Given the description of an element on the screen output the (x, y) to click on. 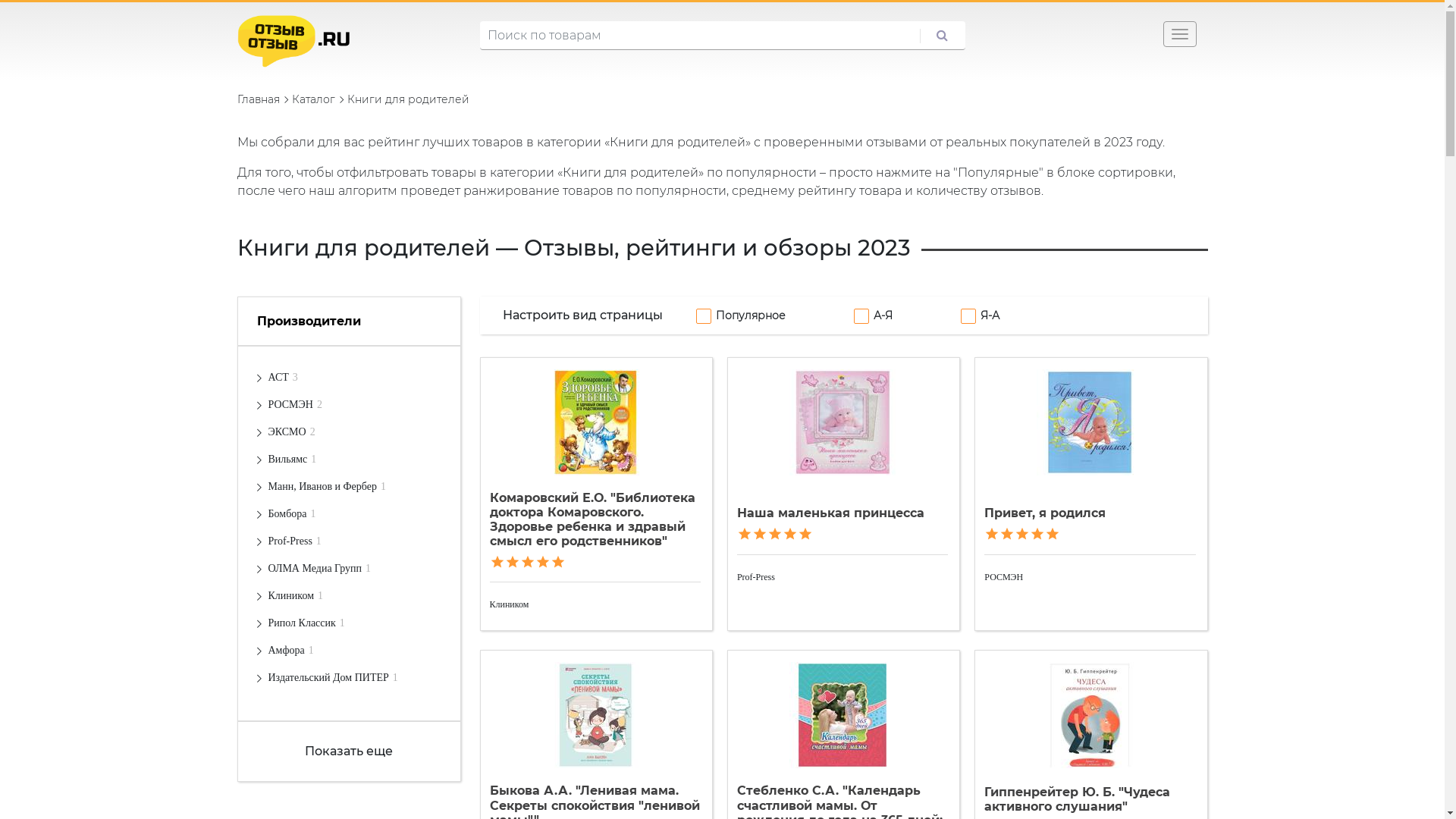
Prof-Press1 Element type: text (294, 540)
Toggle navigation Element type: text (1179, 34)
